Given the description of an element on the screen output the (x, y) to click on. 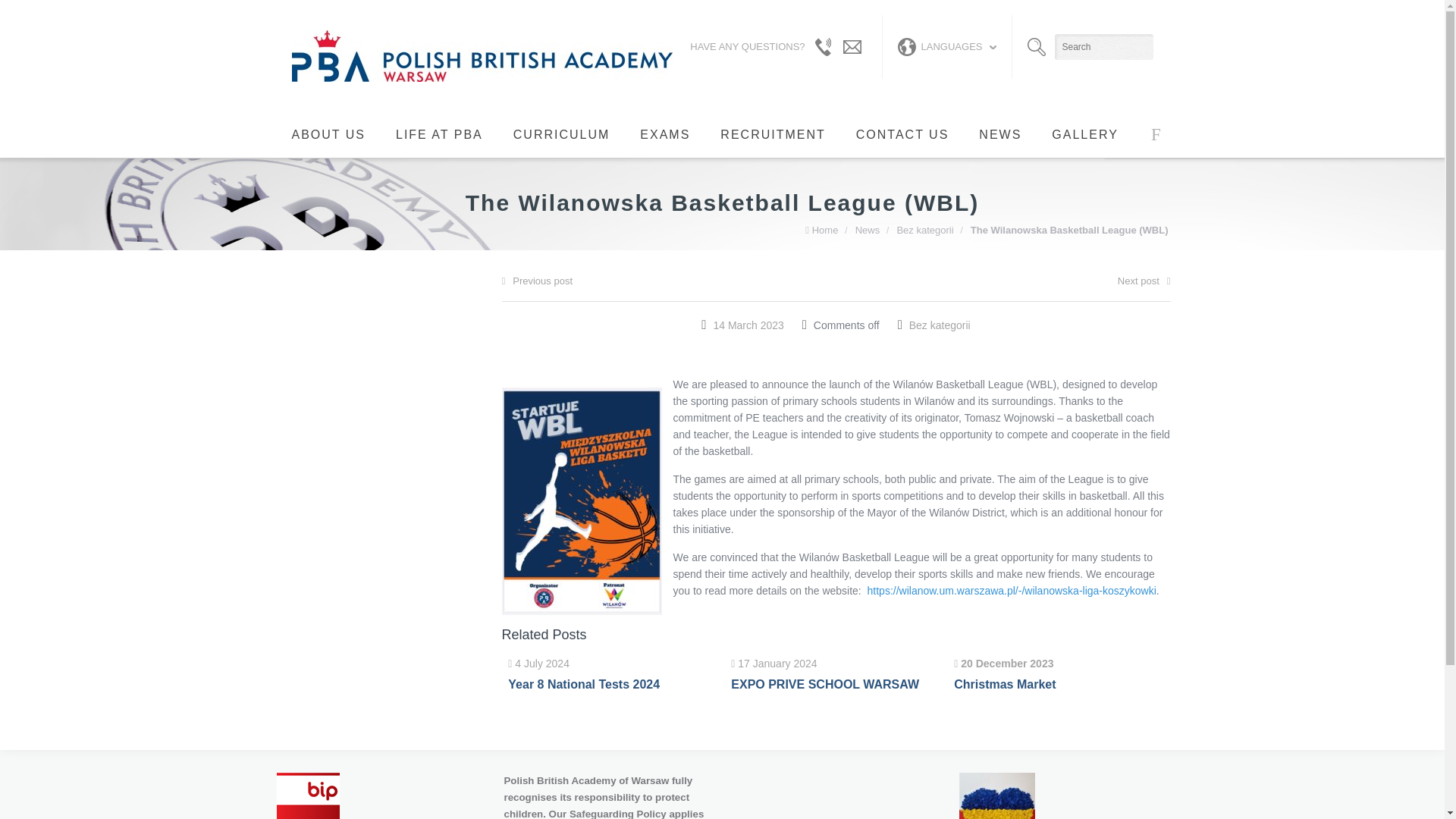
EXAMS (664, 135)
ABOUT US (328, 135)
LIFE AT PBA (438, 135)
LANGUAGES (946, 46)
Polish British Academy of Warsaw (481, 55)
CURRICULUM (561, 135)
